Given the description of an element on the screen output the (x, y) to click on. 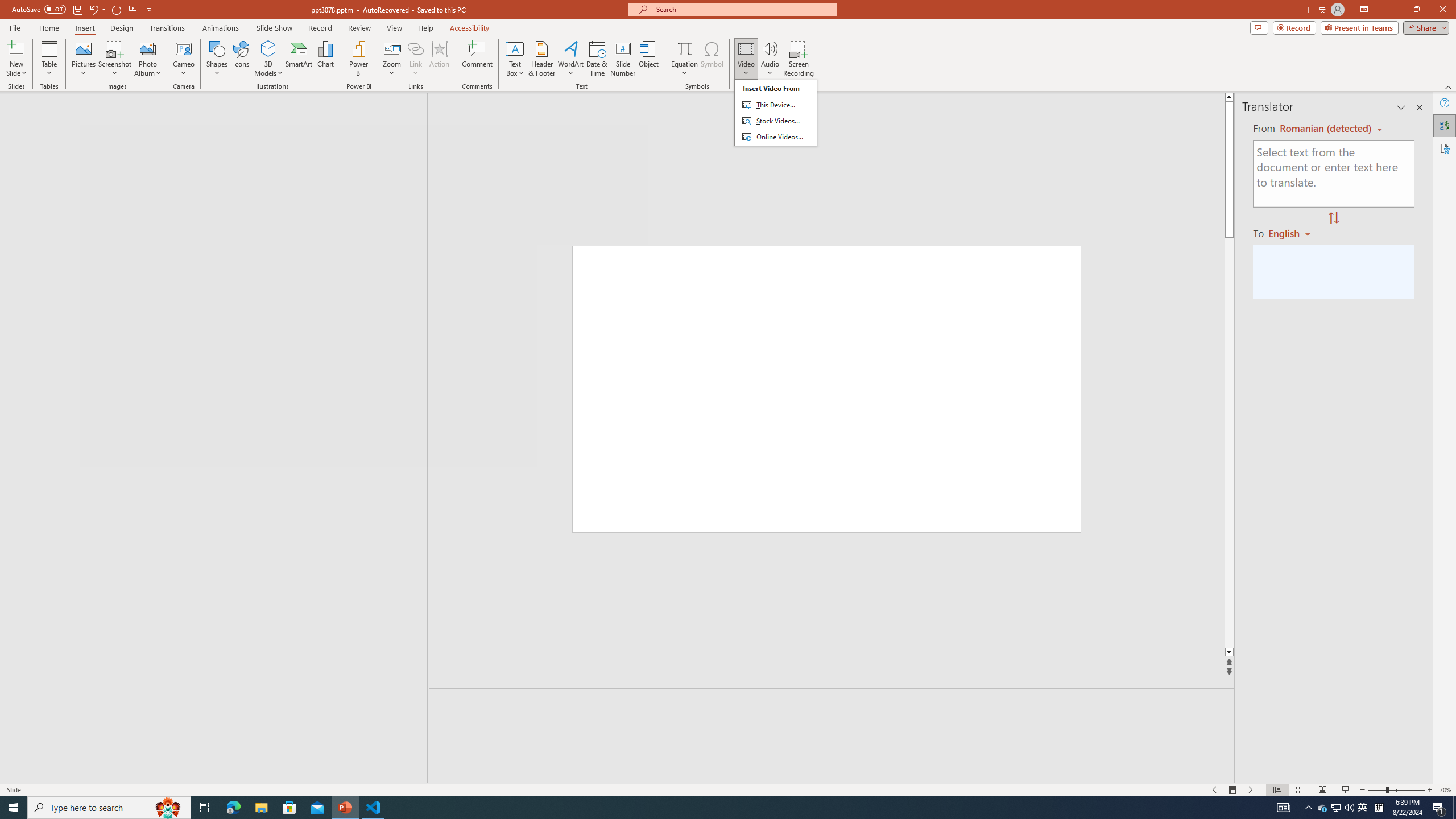
Symbol... (711, 58)
Pictures (83, 58)
Slide Show Next On (1250, 790)
